Given the description of an element on the screen output the (x, y) to click on. 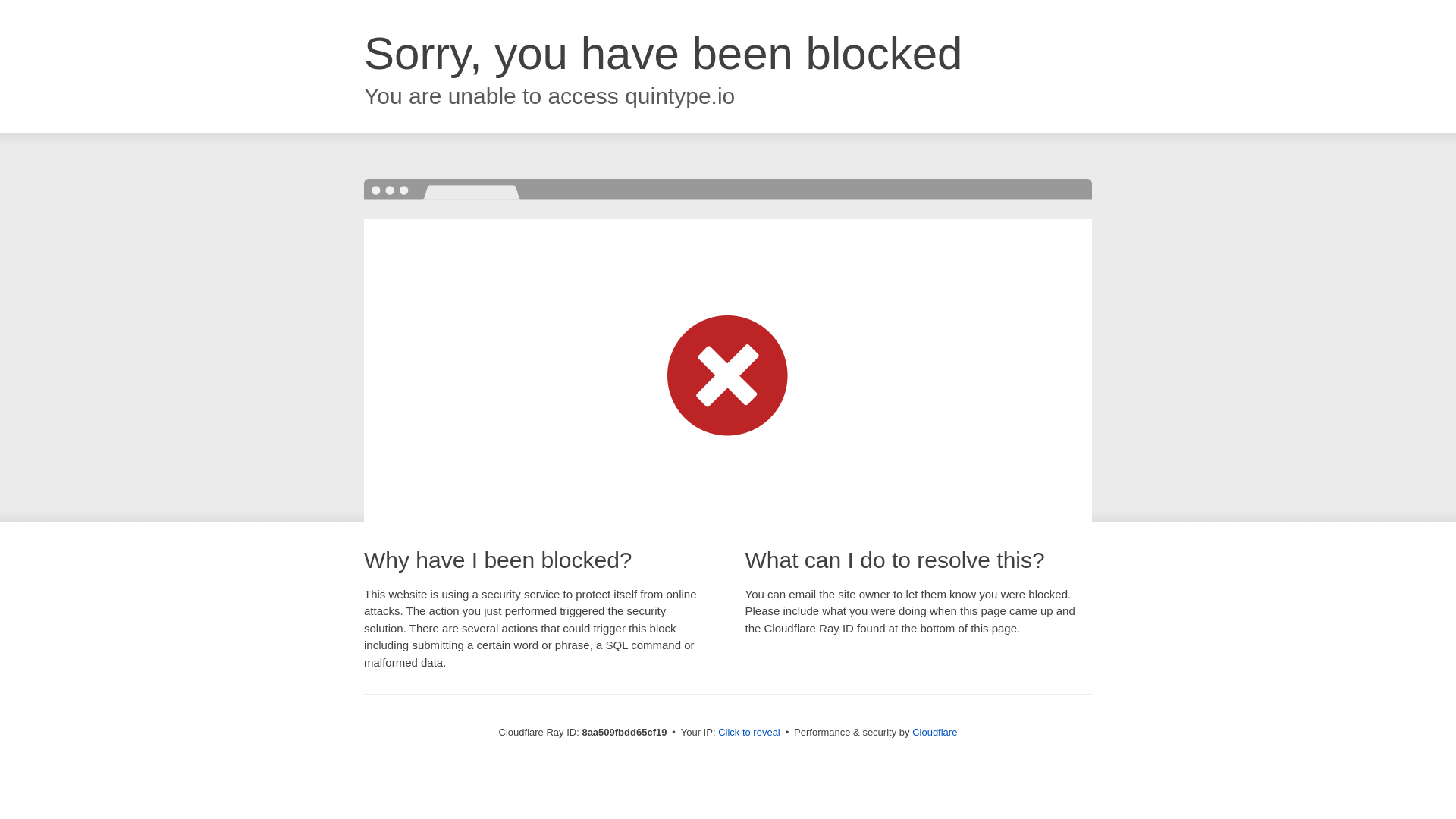
Cloudflare (934, 731)
Click to reveal (748, 732)
